Given the description of an element on the screen output the (x, y) to click on. 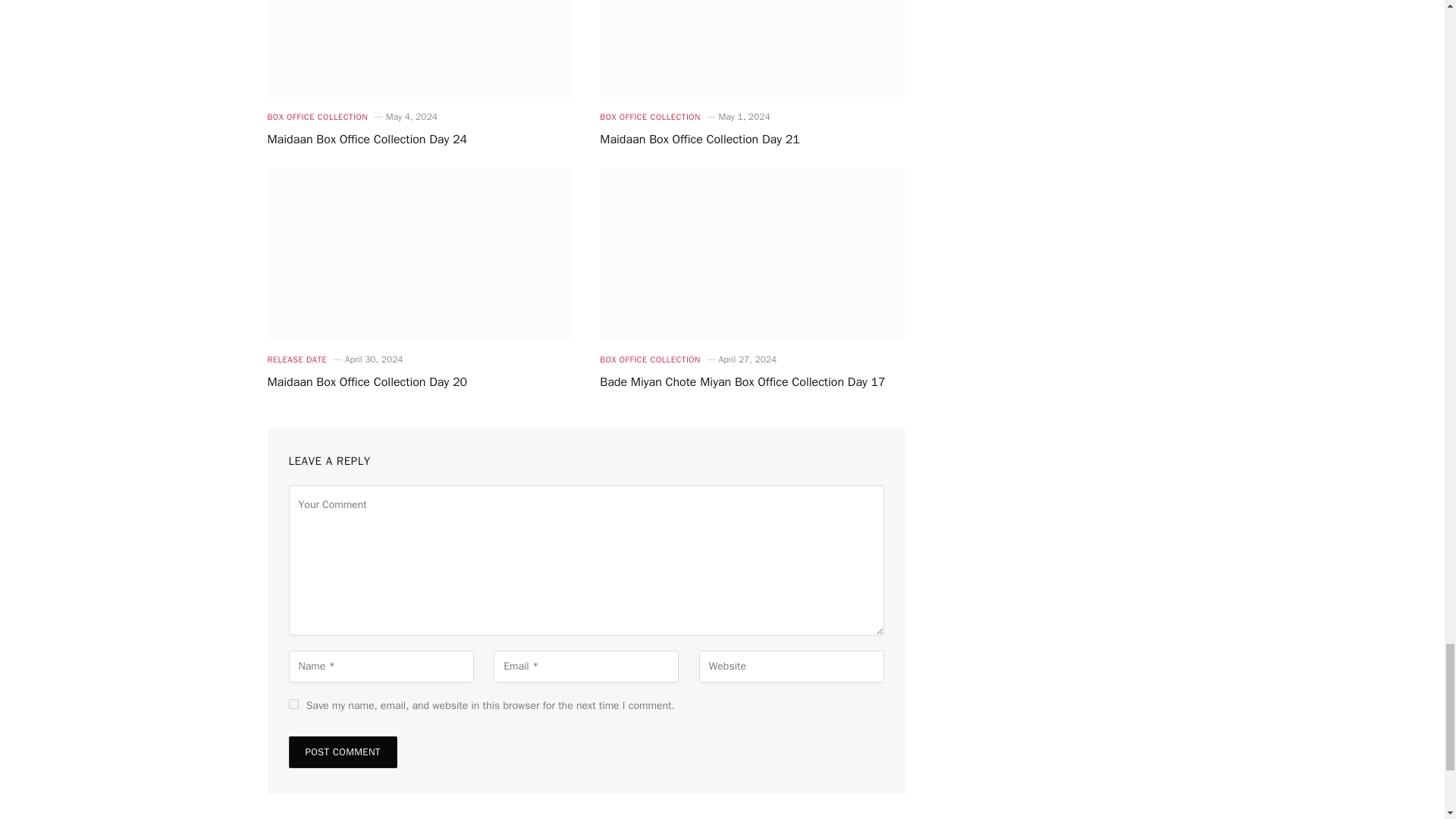
yes (293, 704)
Post Comment (342, 752)
